Given the description of an element on the screen output the (x, y) to click on. 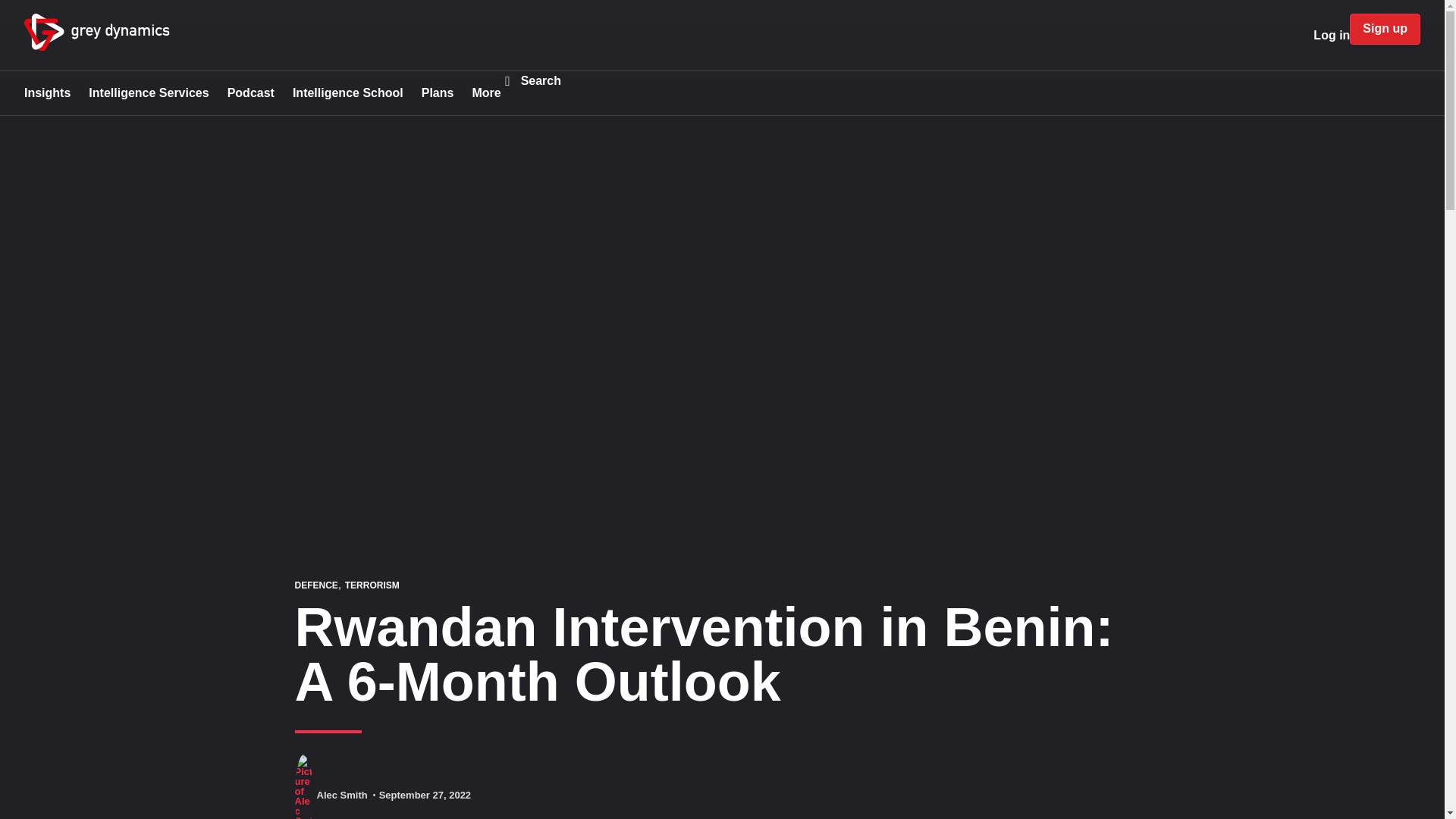
TERRORISM (371, 585)
DEFENCE (315, 585)
Insights (46, 93)
Intelligence Services (148, 93)
Log in (1331, 34)
Search (540, 80)
Intelligence School (347, 93)
Sign up (1385, 29)
Podcast (251, 93)
